Given the description of an element on the screen output the (x, y) to click on. 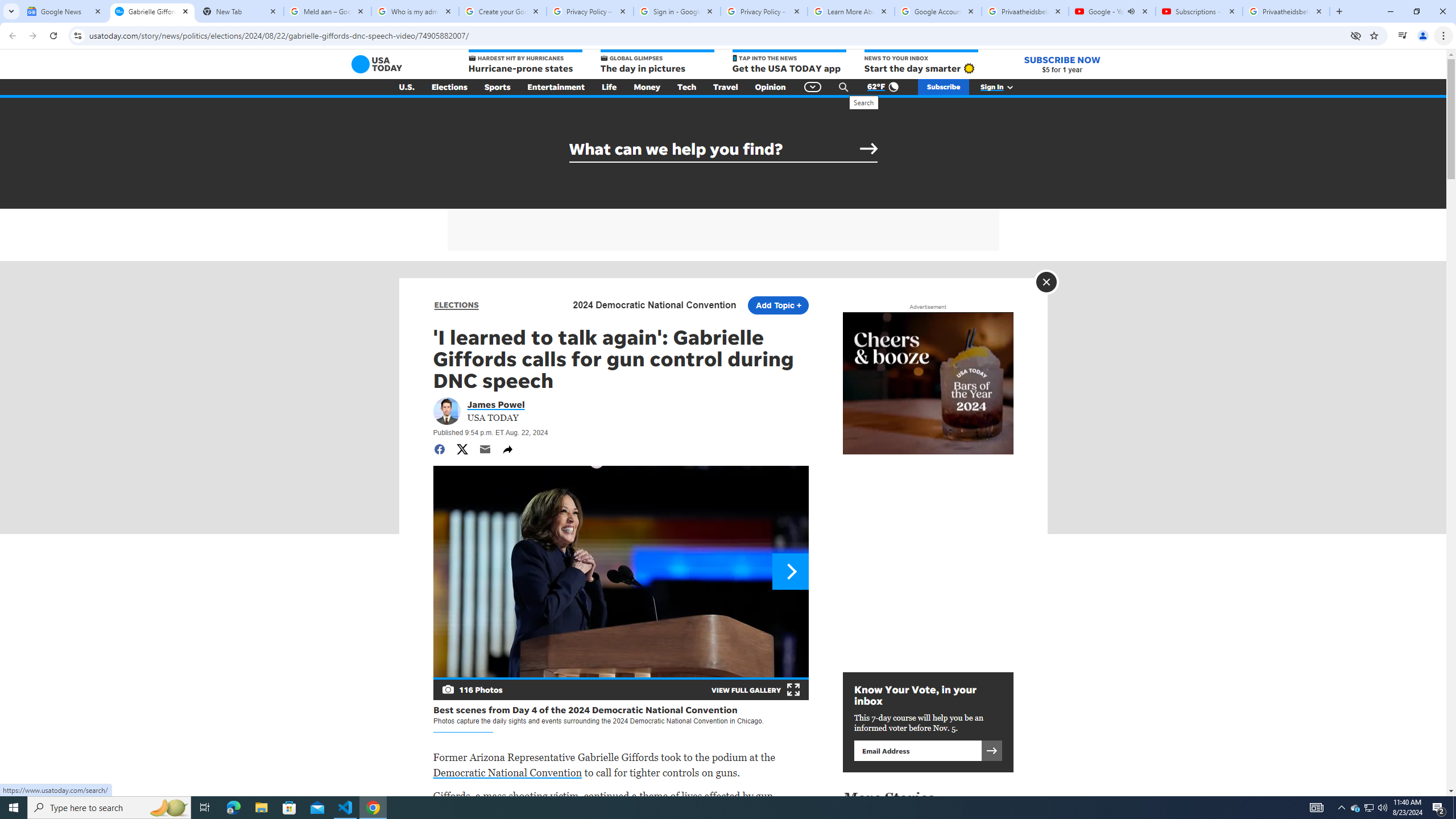
AutomationID: aw0 (722, 180)
Travel (725, 87)
Portrait of James Powel James Powel (496, 404)
Submit (868, 148)
Google News (64, 11)
Who is my administrator? - Google Account Help (415, 11)
Tech (686, 87)
Elections (449, 87)
